Given the description of an element on the screen output the (x, y) to click on. 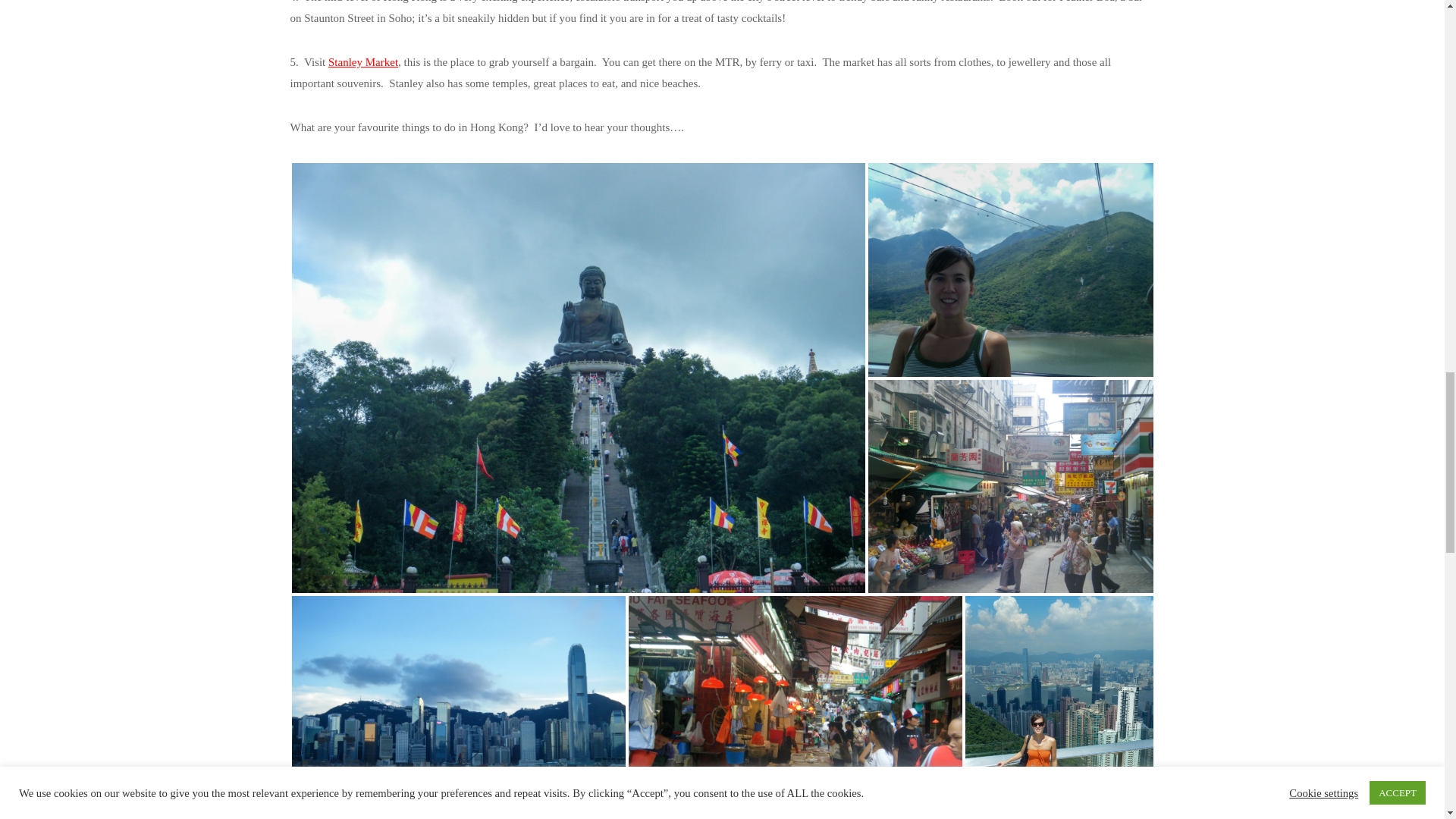
Stanley Market (363, 61)
